Given the description of an element on the screen output the (x, y) to click on. 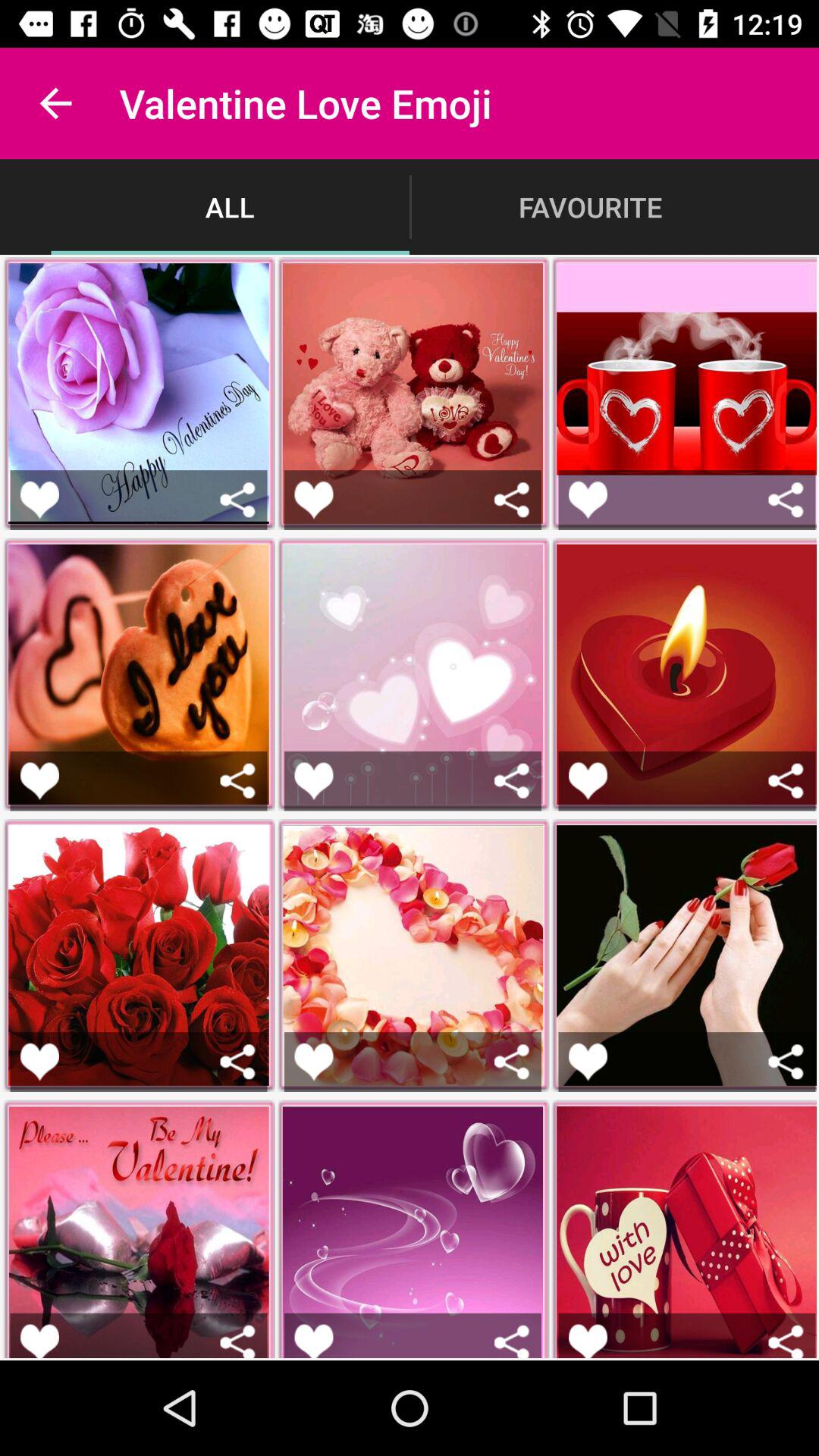
like the picture (313, 499)
